Given the description of an element on the screen output the (x, y) to click on. 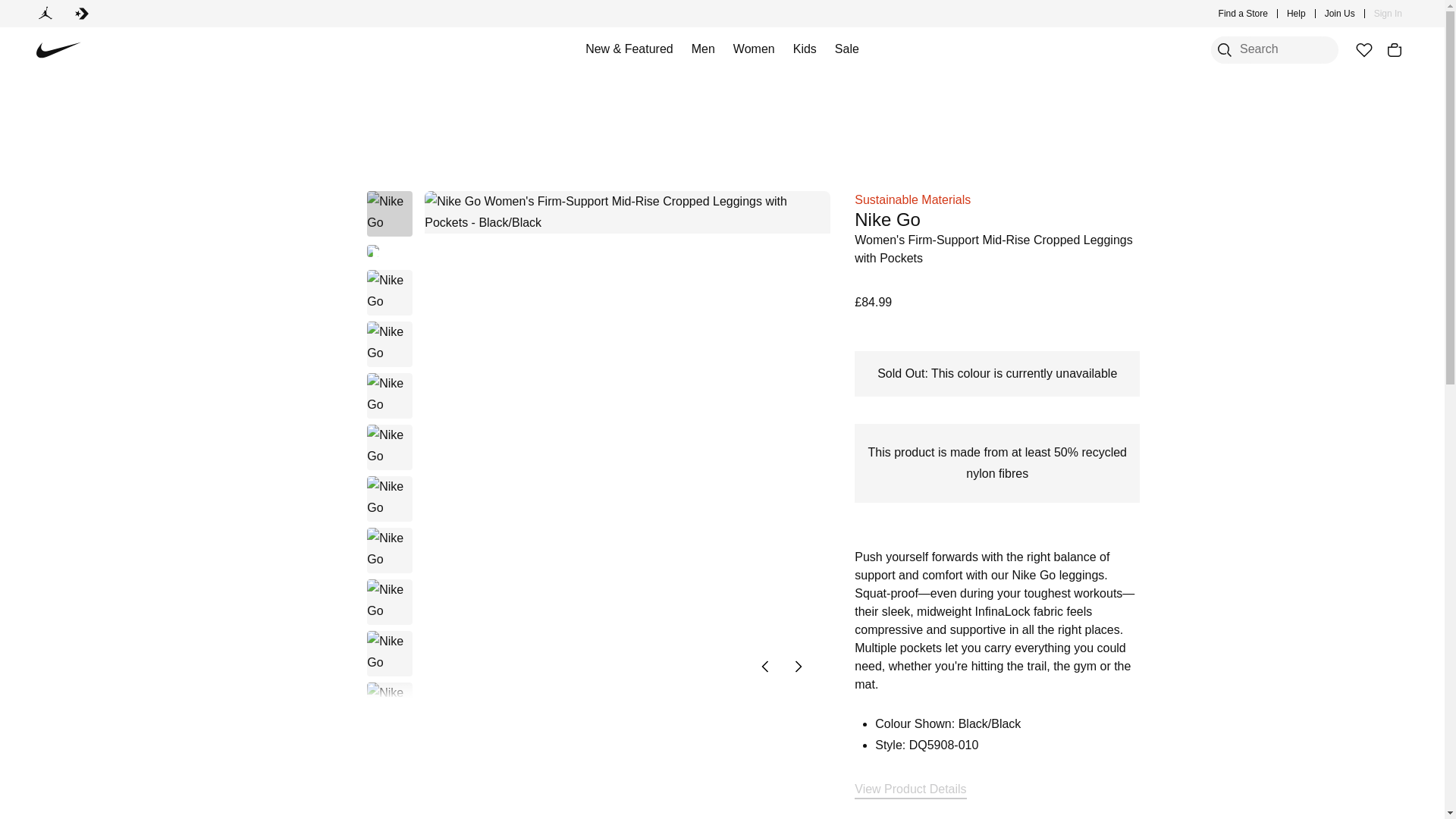
Join Us (1339, 13)
Find a Store (1243, 13)
Bag Items: 0 (1393, 49)
Sign In (1388, 13)
Favourites (1364, 49)
Help (1296, 13)
